Given the description of an element on the screen output the (x, y) to click on. 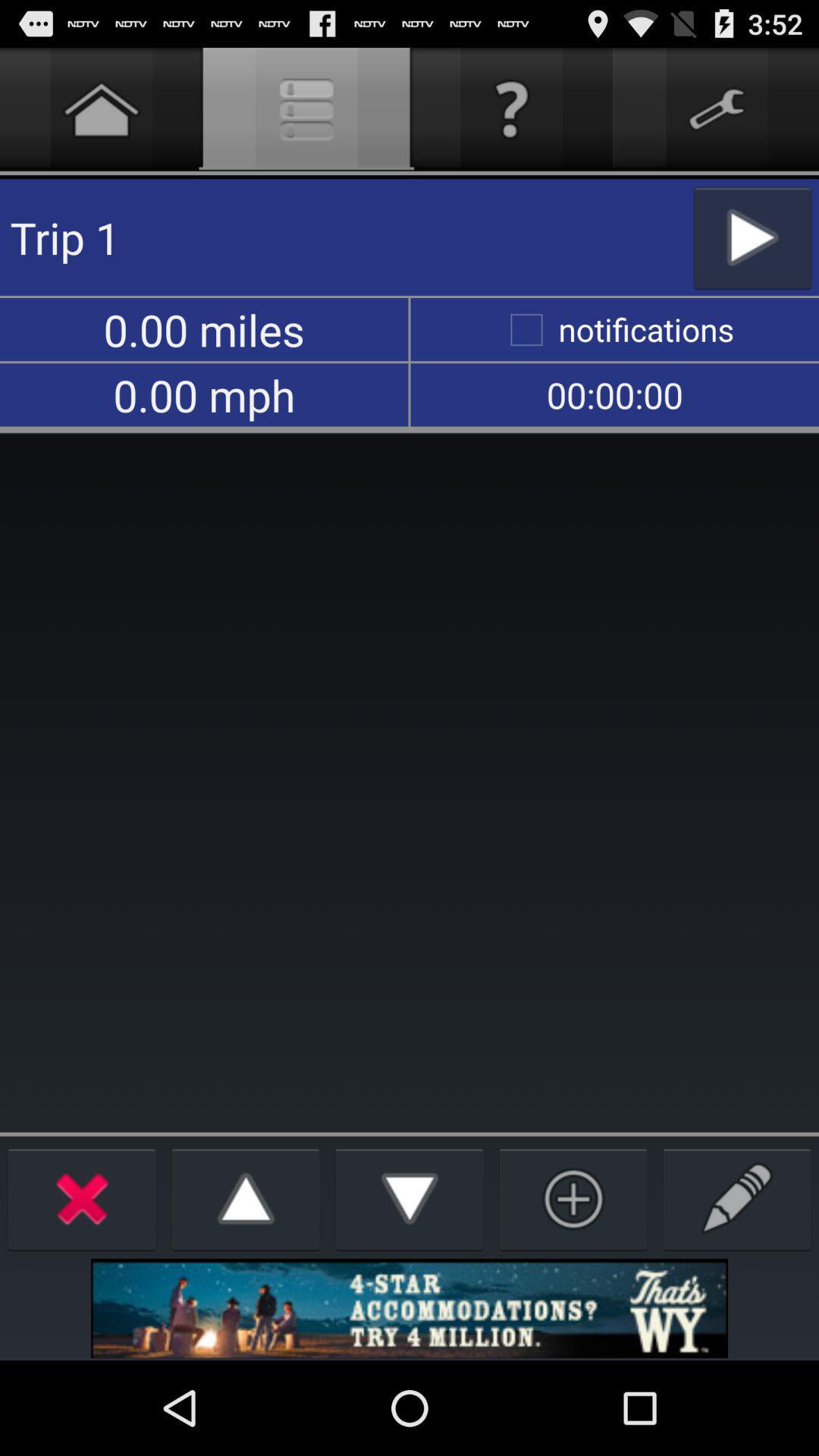
open new document (737, 1198)
